Given the description of an element on the screen output the (x, y) to click on. 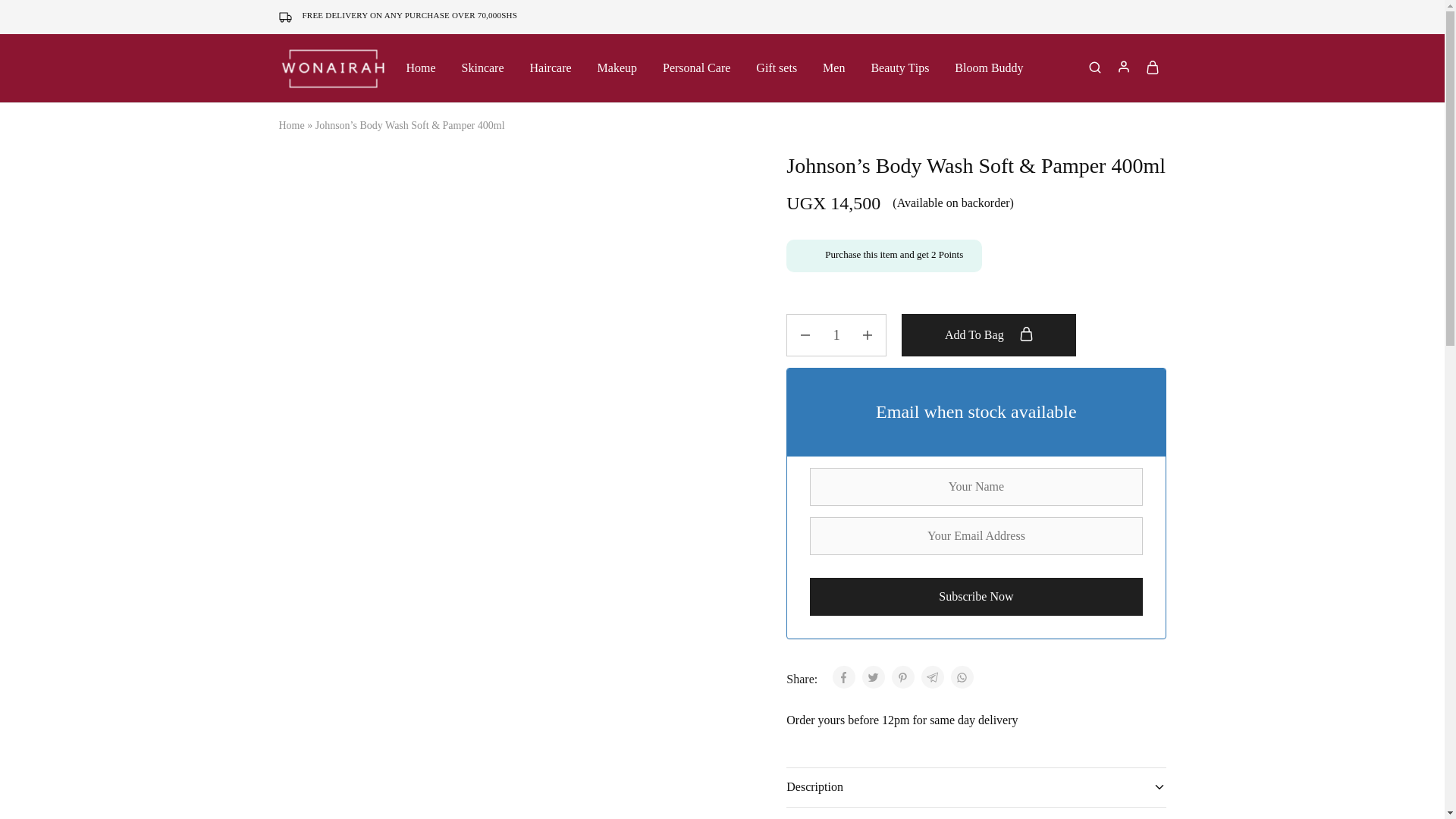
FREE DELIVERY ON ANY PURCHASE OVER 70,000SHS  (410, 14)
Makeup (617, 67)
Bloom Buddy (988, 67)
Home (291, 125)
Men (834, 67)
Haircare (550, 67)
Personal Care (696, 67)
Gift sets (776, 67)
Skincare (483, 67)
Subscribe Now (975, 596)
